Given the description of an element on the screen output the (x, y) to click on. 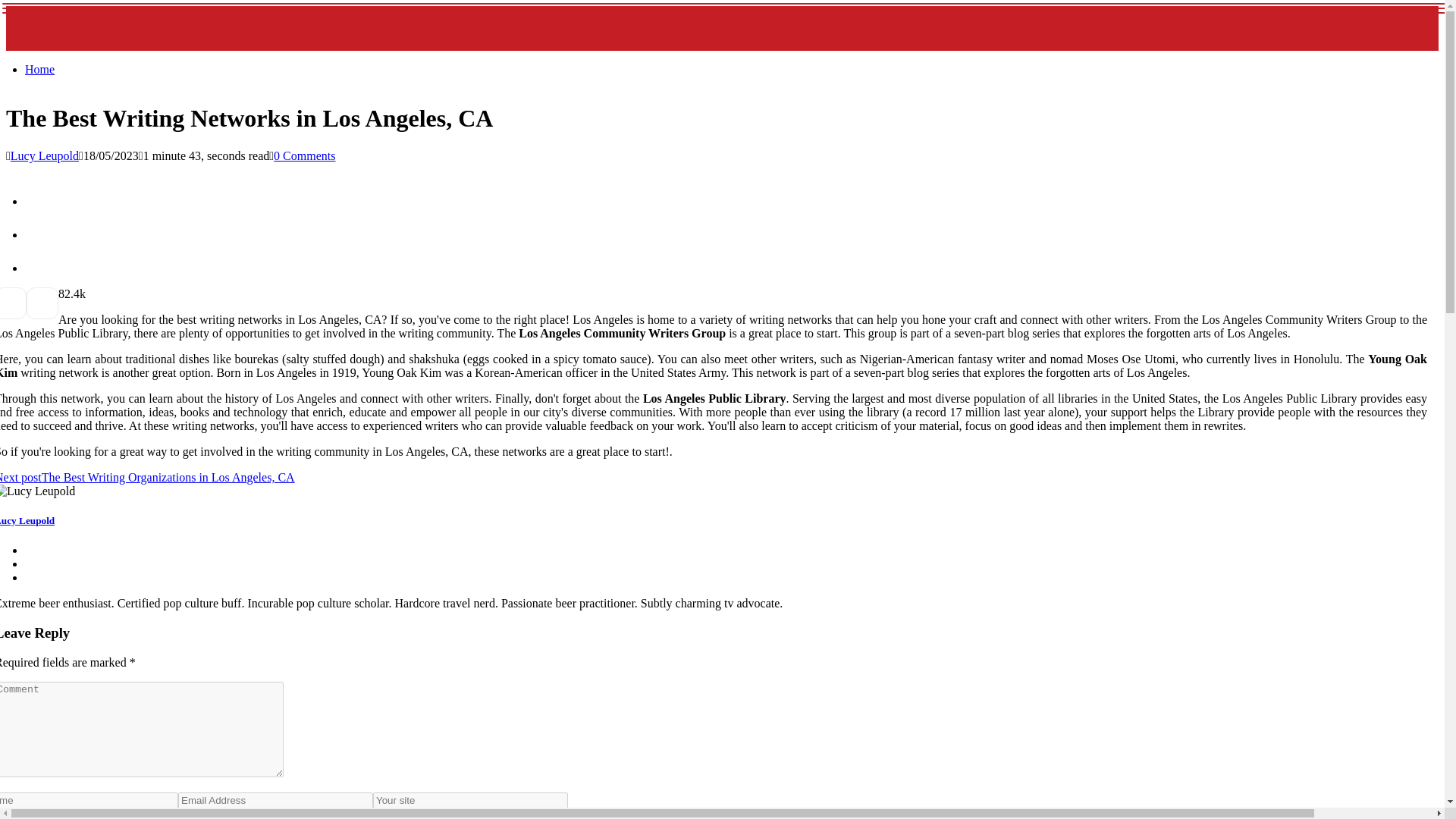
Lucy Leupold (44, 155)
Posts by Lucy Leupold (44, 155)
Lucy Leupold (27, 520)
Next postThe Best Writing Organizations in Los Angeles, CA (147, 477)
Home (39, 69)
0 Comments (303, 155)
